Given the description of an element on the screen output the (x, y) to click on. 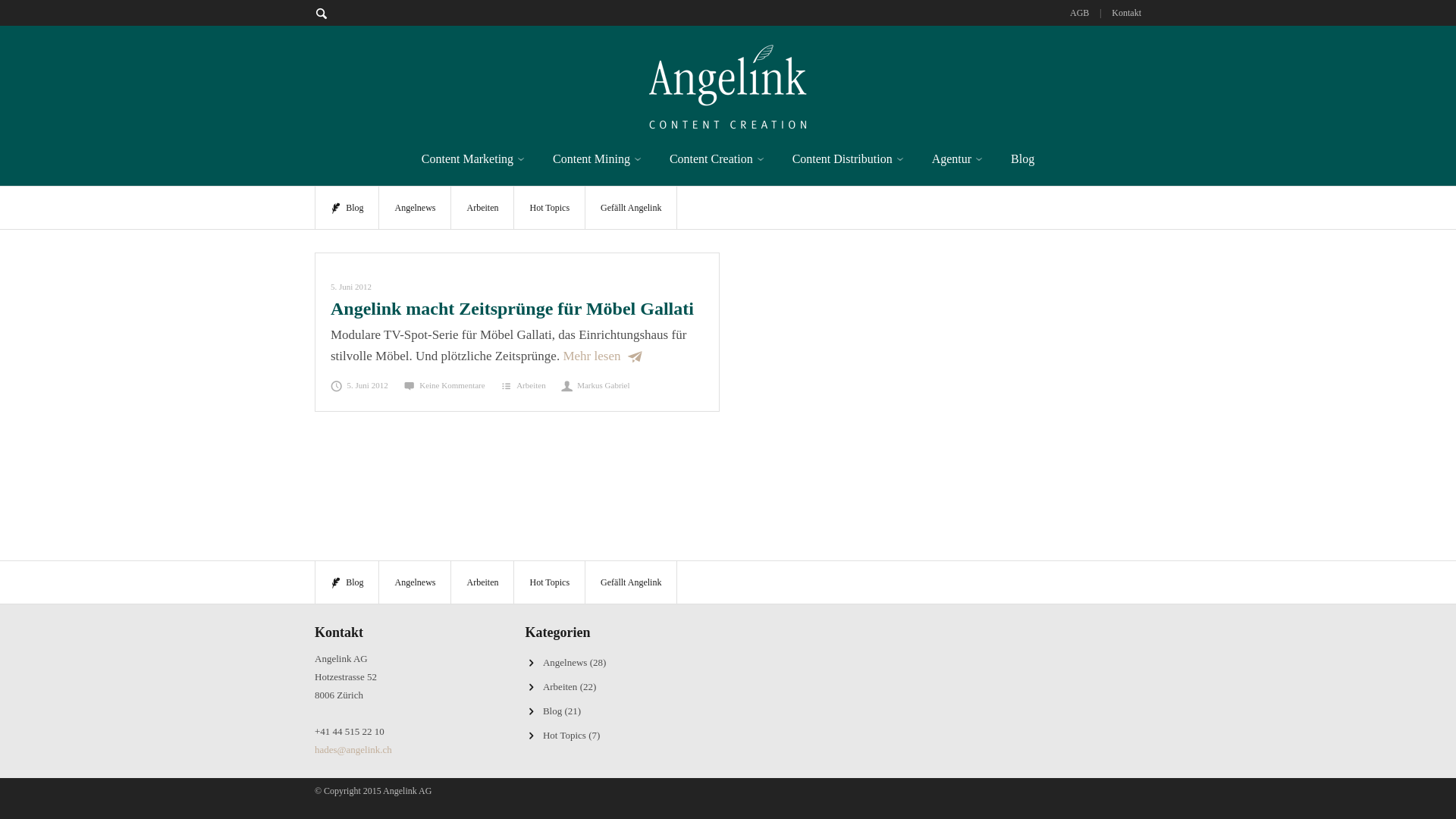
Content Creation Element type: text (716, 158)
Hot Topics Element type: text (564, 734)
Angelnews Element type: text (414, 207)
Markus Gabriel Element type: text (595, 384)
Angelink, Content Marketing Agentur Element type: hover (727, 84)
Agentur Element type: text (957, 158)
Angelnews Element type: text (564, 662)
AGB Element type: text (1079, 12)
Mehr lesen Element type: text (602, 355)
hades@angelink.ch Element type: text (353, 749)
Arbeiten Element type: text (481, 207)
Hot Topics Element type: text (548, 582)
Arbeiten Element type: text (530, 384)
Angelnews Element type: text (414, 582)
Content Mining Element type: text (597, 158)
Arbeiten Element type: text (559, 686)
Blog Element type: text (346, 207)
Content Distribution Element type: text (848, 158)
Blog Element type: text (551, 710)
Hot Topics Element type: text (548, 207)
Content Marketing Element type: text (473, 158)
Arbeiten Element type: text (481, 582)
Blog Element type: text (346, 582)
Keine Kommentare Element type: text (444, 384)
Blog Element type: text (1022, 158)
5. Juni 2012 Element type: text (359, 384)
Kontakt Element type: text (1126, 12)
5. Juni 2012 Element type: text (350, 286)
